Given the description of an element on the screen output the (x, y) to click on. 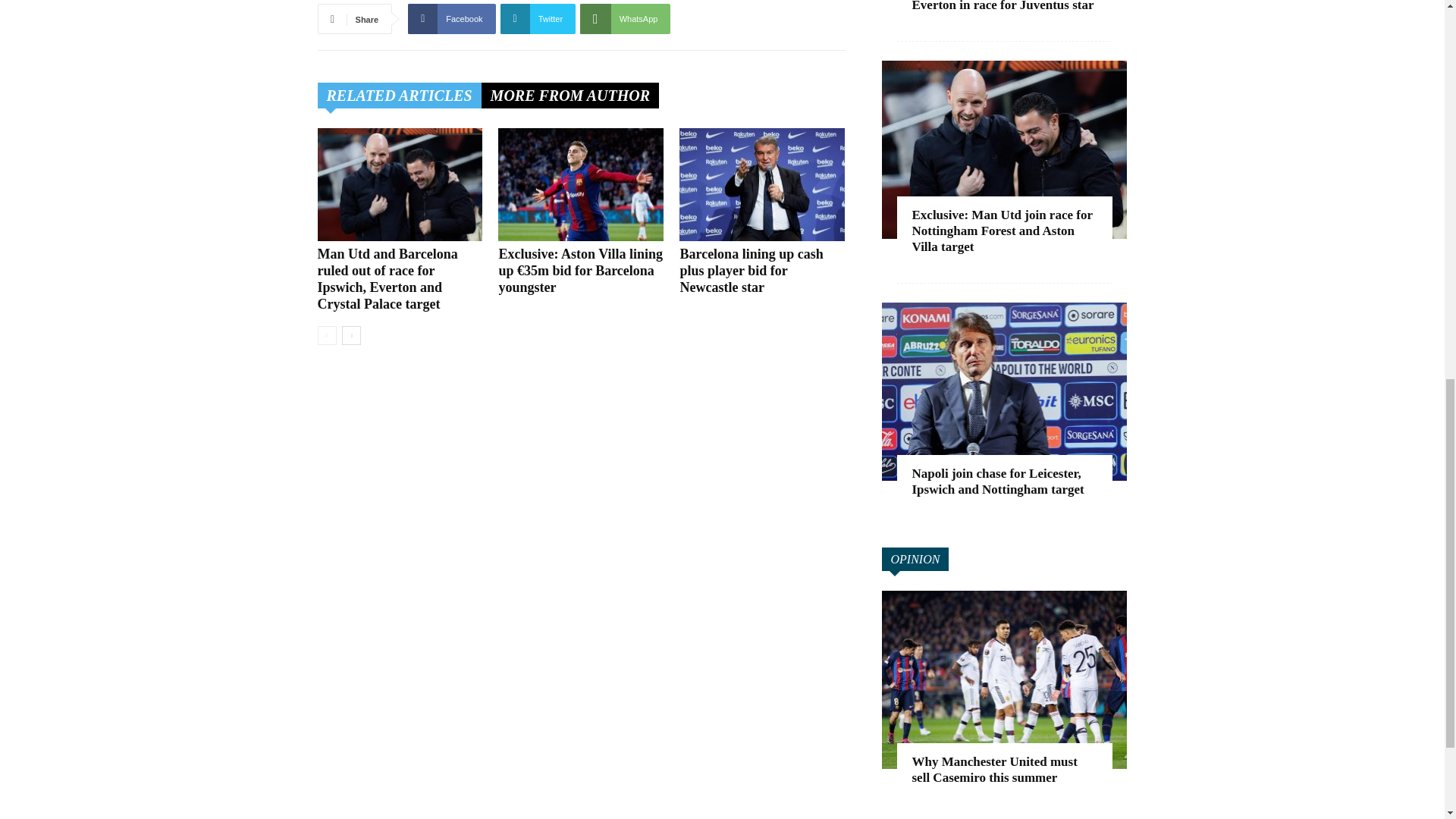
WhatsApp (624, 18)
Facebook (451, 18)
Twitter (538, 18)
Facebook (451, 18)
